Given the description of an element on the screen output the (x, y) to click on. 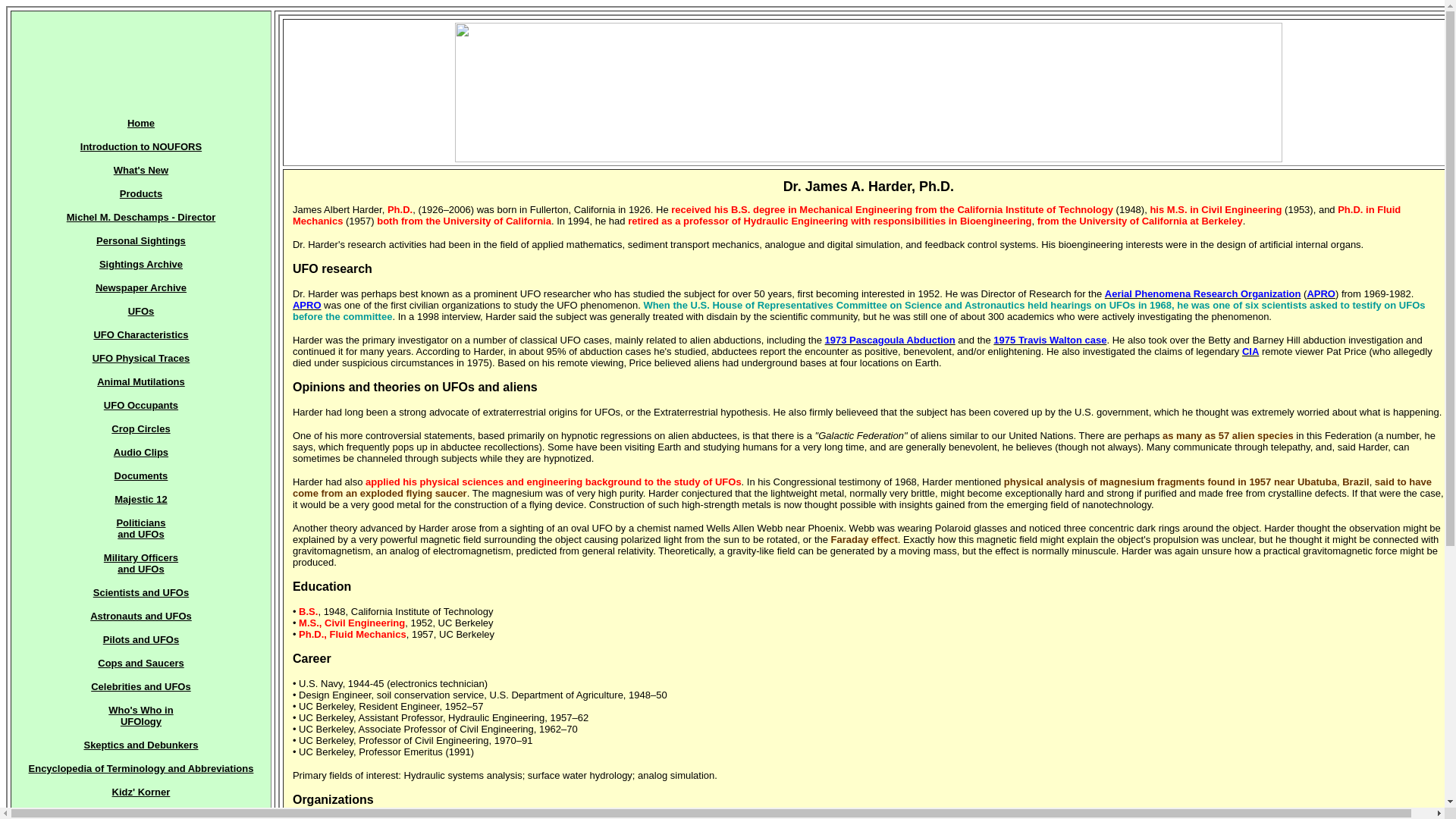
Pilots and UFOs (141, 639)
Documents (141, 475)
Animal Mutilations (140, 381)
Links (140, 527)
Introduction to NOUFORS (140, 563)
Audio Clips (141, 814)
Skeptics and Debunkers (141, 146)
